Given the description of an element on the screen output the (x, y) to click on. 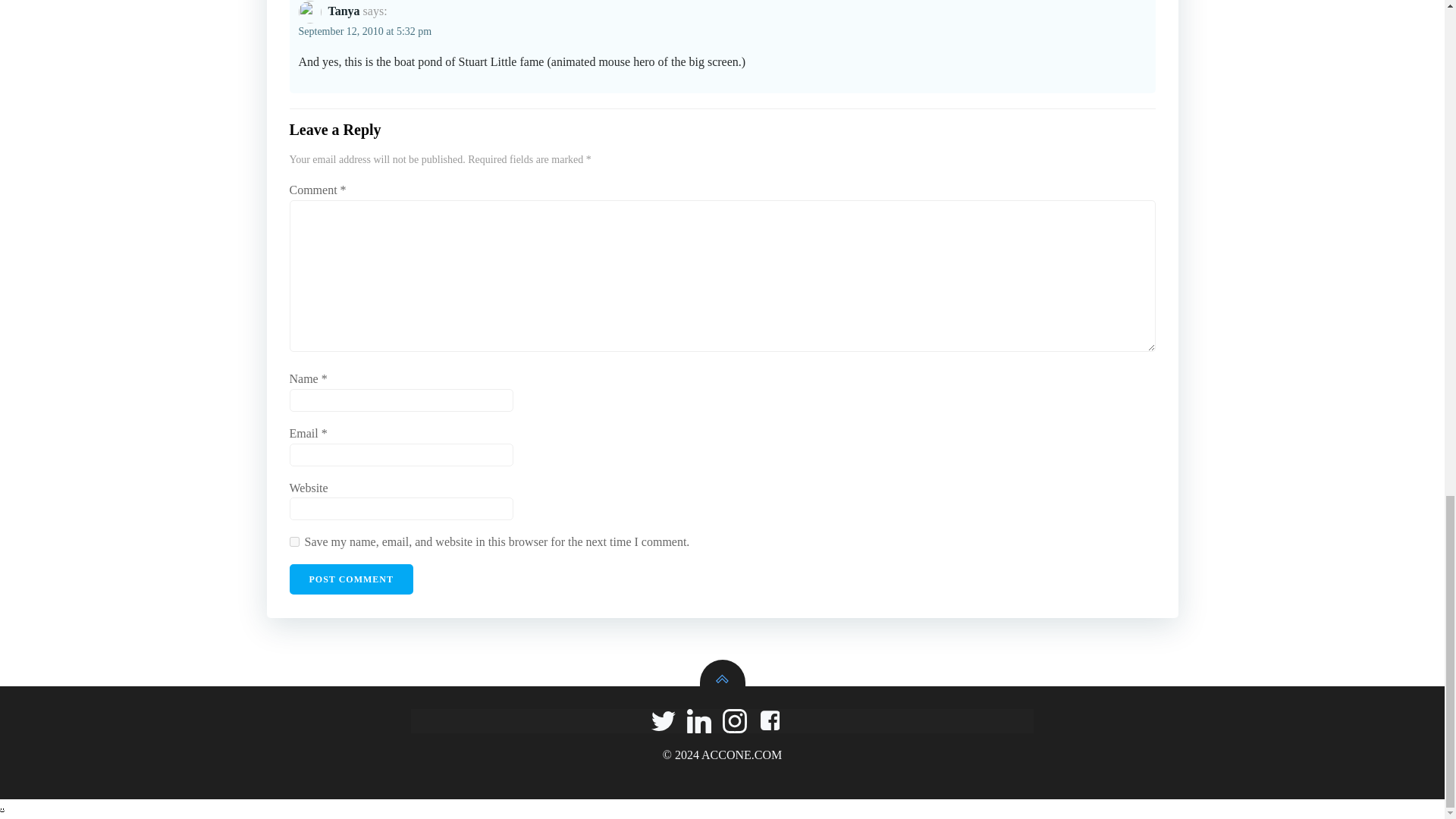
yes (294, 542)
September 12, 2010 at 5:32 pm (365, 30)
Tanya (343, 10)
Post Comment (351, 579)
Post Comment (351, 579)
